Given the description of an element on the screen output the (x, y) to click on. 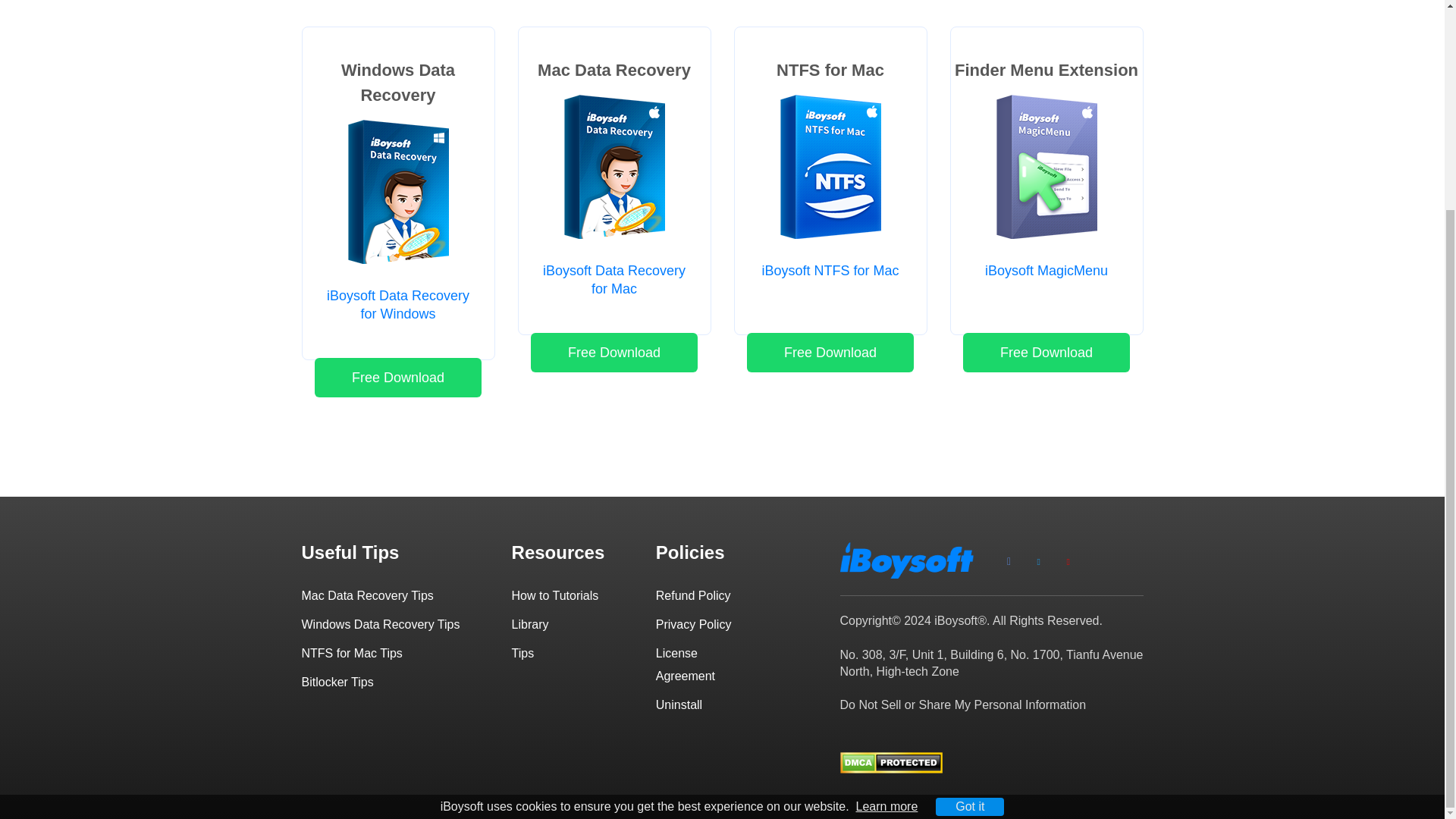
Refund Policy (693, 594)
iBoysoft Data Recovery for Mac (614, 279)
Free Download (1045, 352)
Learn more (887, 533)
Library (530, 624)
iBoysoft NTFS for Mac (829, 270)
Windows Data Recovery Tips (380, 624)
Free Download (614, 352)
Mac Data Recovery Tips (367, 594)
iBoysoft MagicMenu (1046, 270)
Free Download (830, 352)
Privacy Policy (694, 624)
iBoysoft Data Recovery for Windows (397, 304)
Tips (523, 653)
Do Not Sell or Share My Personal Information (963, 704)
